Given the description of an element on the screen output the (x, y) to click on. 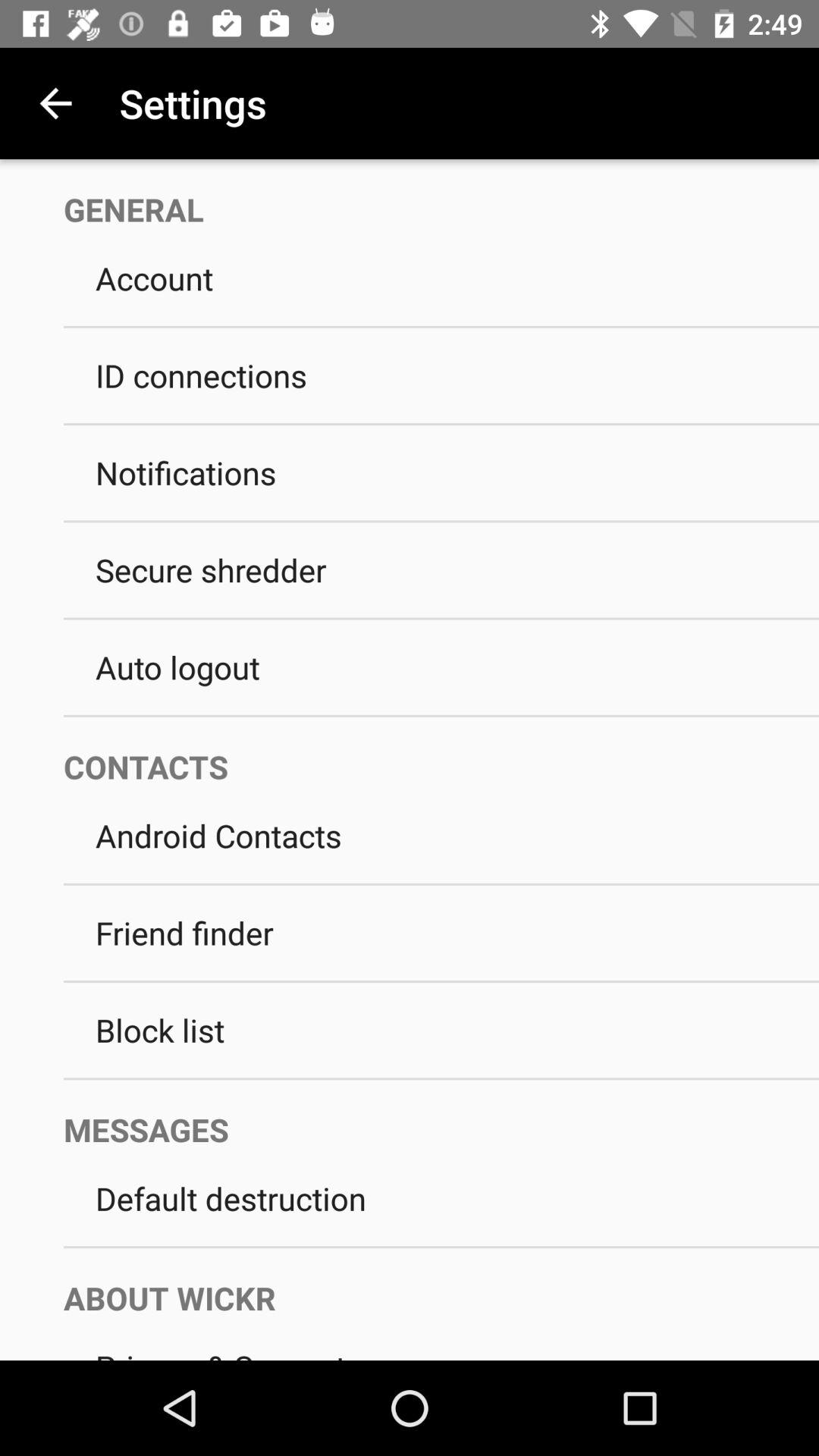
open the icon below auto logout (441, 715)
